Given the description of an element on the screen output the (x, y) to click on. 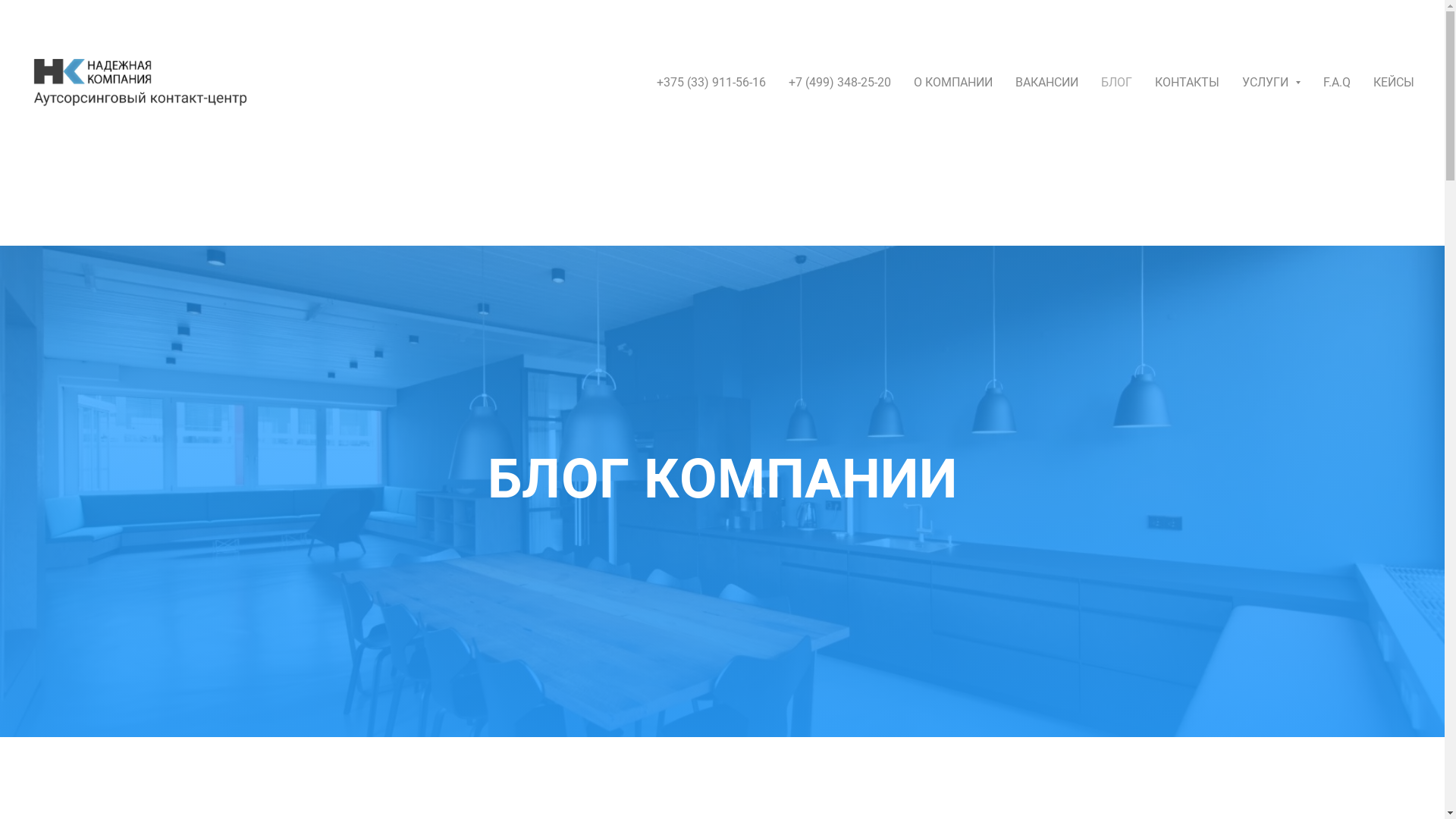
+375 (33) 911-56-16 Element type: text (710, 81)
F.A.Q Element type: text (1336, 81)
+7 (499) 348-25-20 Element type: text (839, 81)
